Given the description of an element on the screen output the (x, y) to click on. 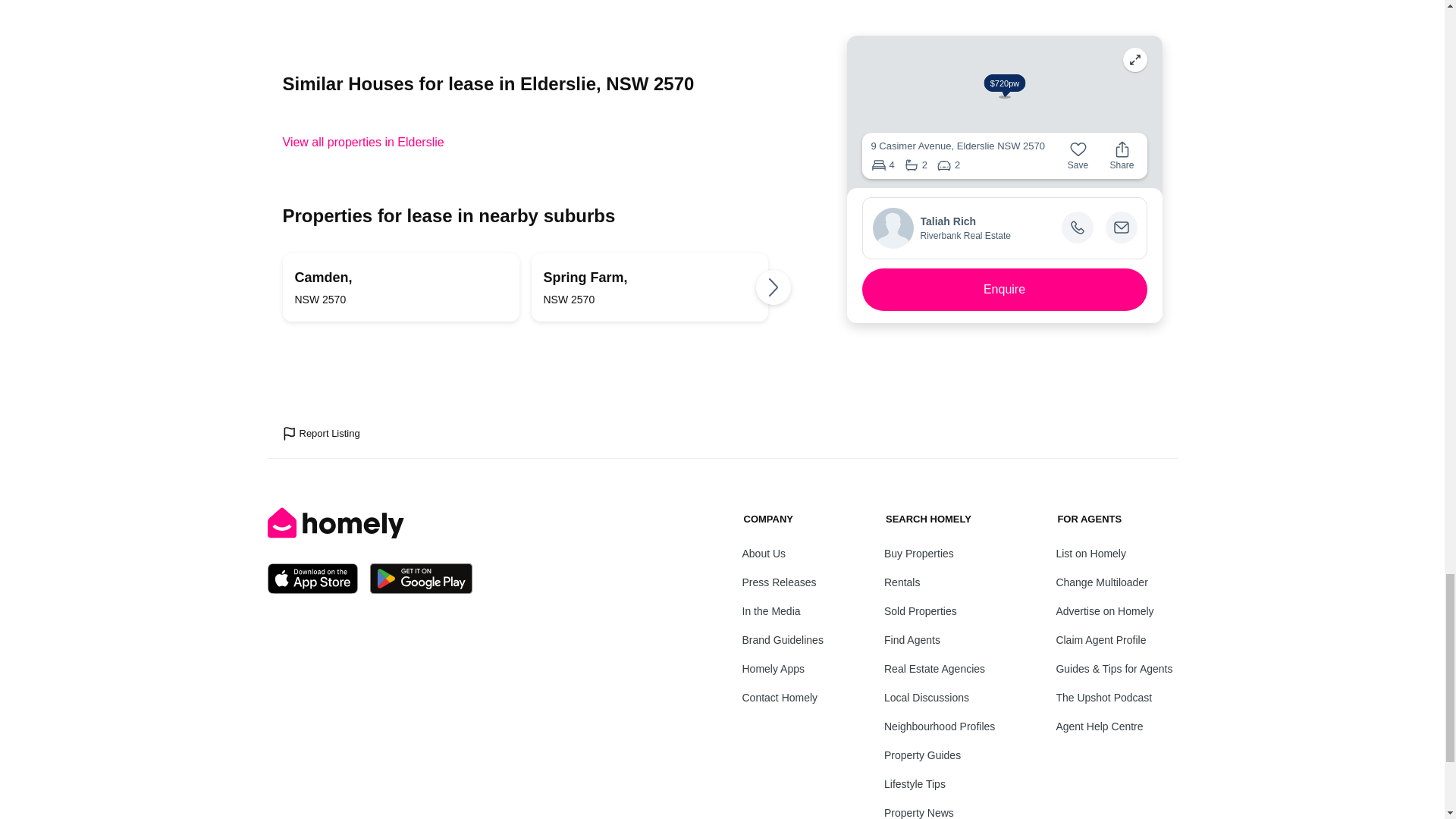
View all properties in Elderslie (649, 287)
